Given the description of an element on the screen output the (x, y) to click on. 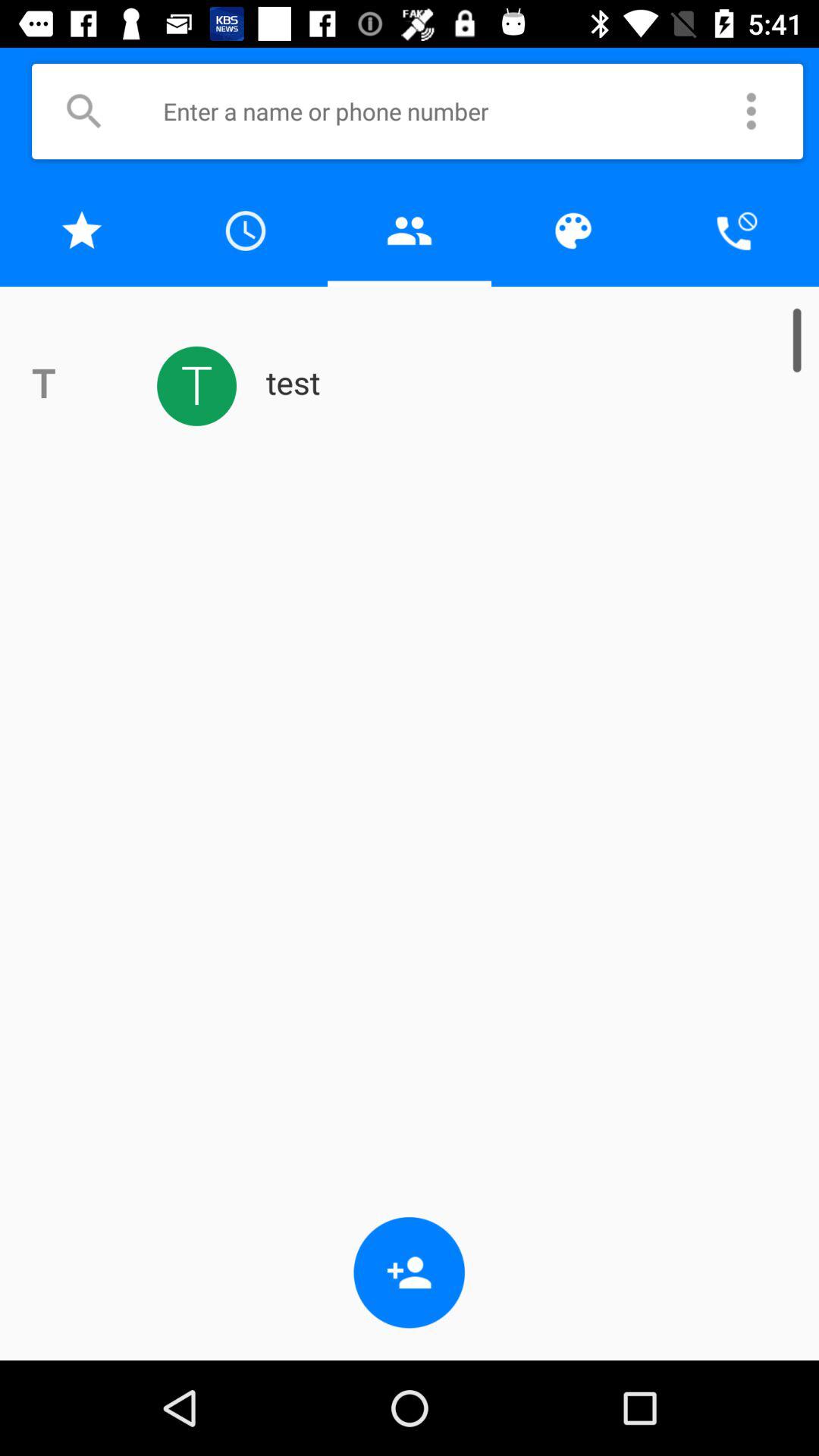
contact (409, 230)
